Given the description of an element on the screen output the (x, y) to click on. 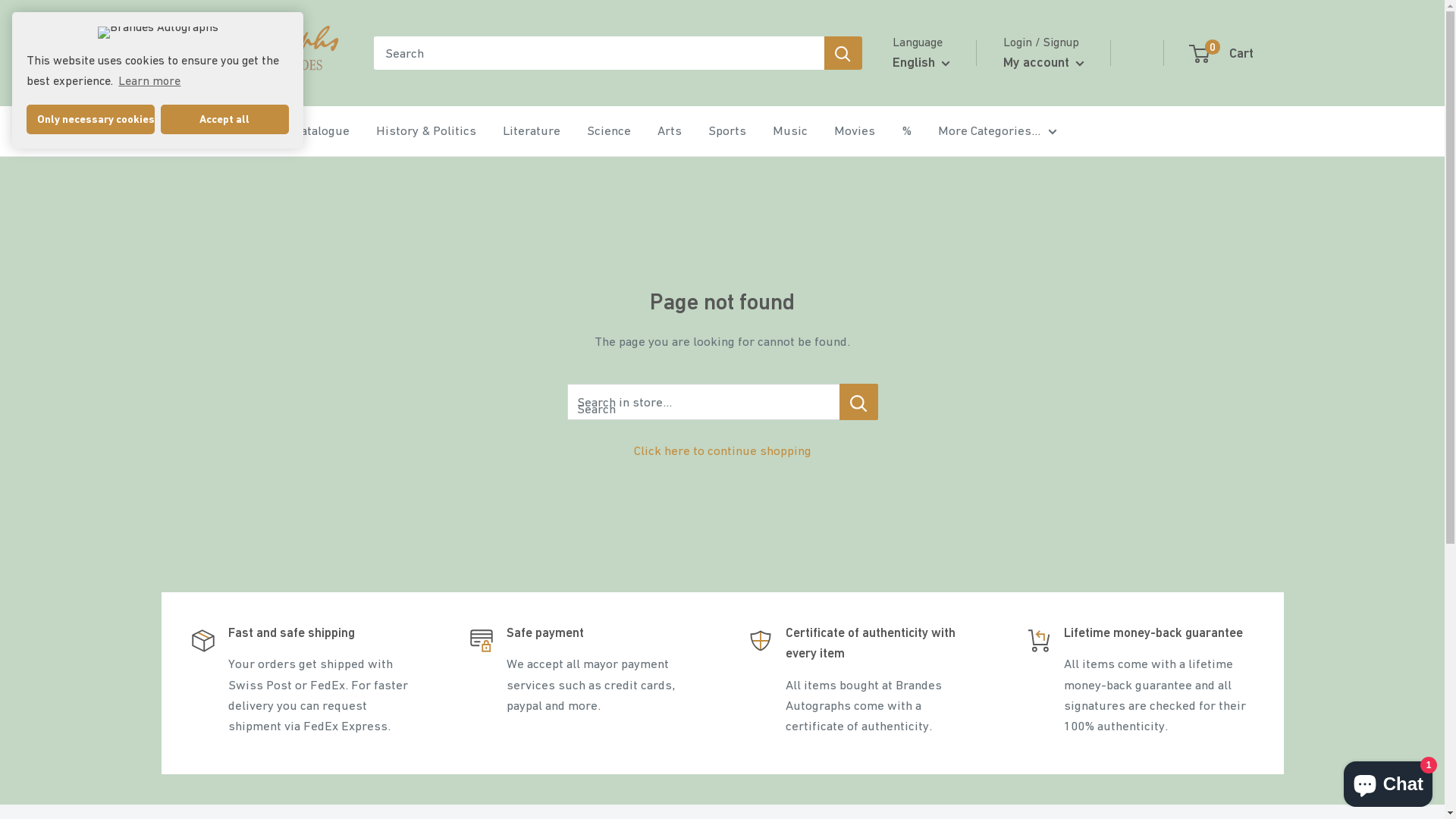
English Element type: text (920, 62)
es Element type: text (930, 183)
Movies Element type: text (854, 131)
en Element type: text (930, 110)
0
Cart Element type: text (1221, 52)
Sports Element type: text (727, 131)
ar Element type: text (930, 207)
Brandes Autographs Element type: text (266, 53)
fr Element type: text (930, 158)
Science Element type: text (608, 131)
Click here to continue shopping Element type: text (722, 450)
de Element type: text (930, 134)
% Element type: text (905, 131)
Music Element type: text (788, 131)
Learn more Element type: text (149, 80)
zh-CN Element type: text (930, 232)
Literature Element type: text (530, 131)
Full Catalogue Element type: text (308, 131)
Home Element type: text (216, 131)
History & Politics Element type: text (426, 131)
Only necessary cookies Element type: text (90, 119)
My account Element type: text (1042, 62)
Arts Element type: text (668, 131)
More Categories... Element type: text (996, 131)
Shopify online store chat Element type: hover (1388, 780)
Accept all Element type: text (224, 119)
